Given the description of an element on the screen output the (x, y) to click on. 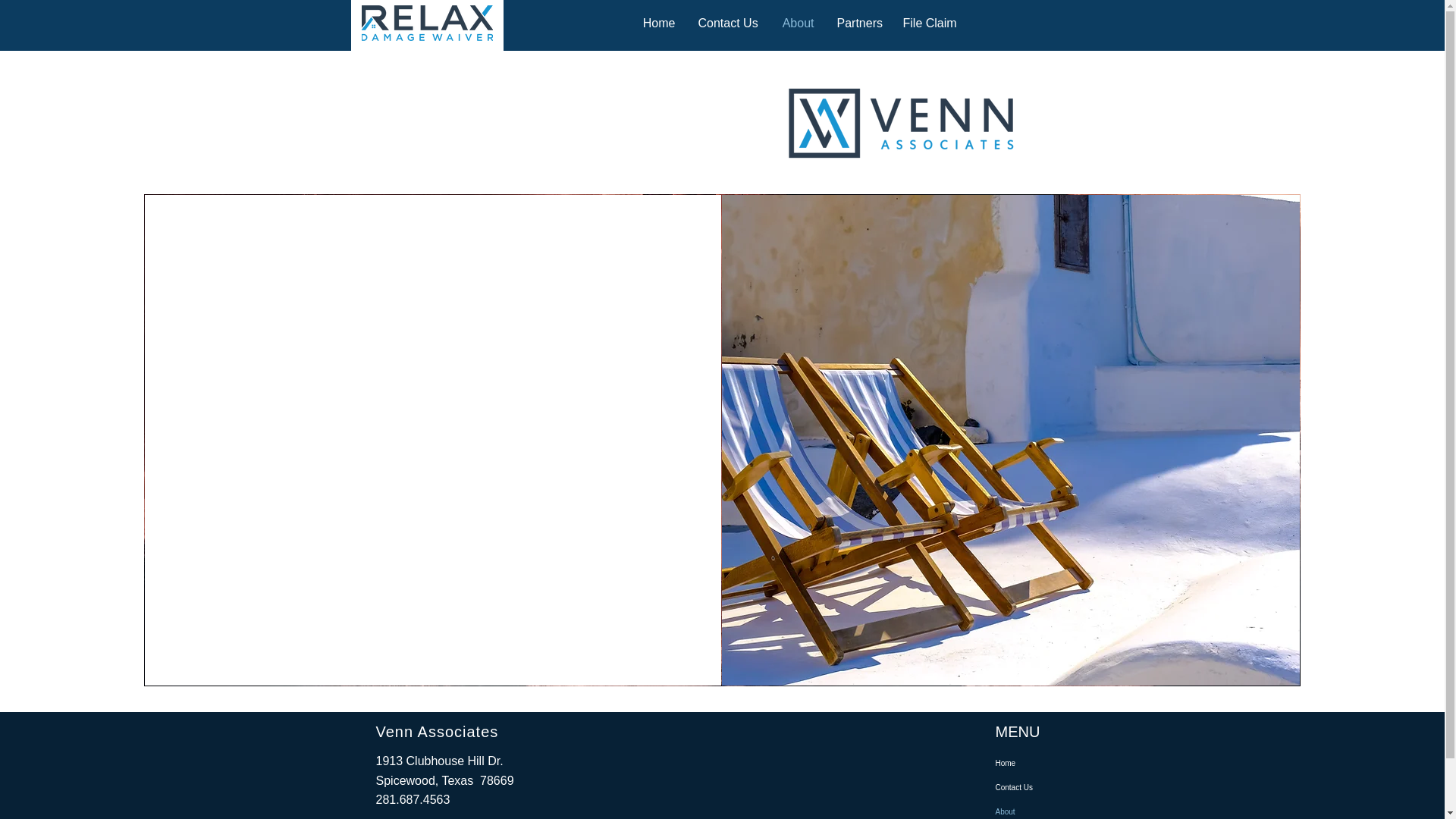
Contact Us (727, 23)
Venn Associates (437, 731)
About (796, 23)
Home (1037, 763)
Contact Us (1037, 787)
RELAX.png (426, 22)
About (1037, 809)
File Claim (929, 23)
Partners (858, 23)
Home (656, 23)
